Given the description of an element on the screen output the (x, y) to click on. 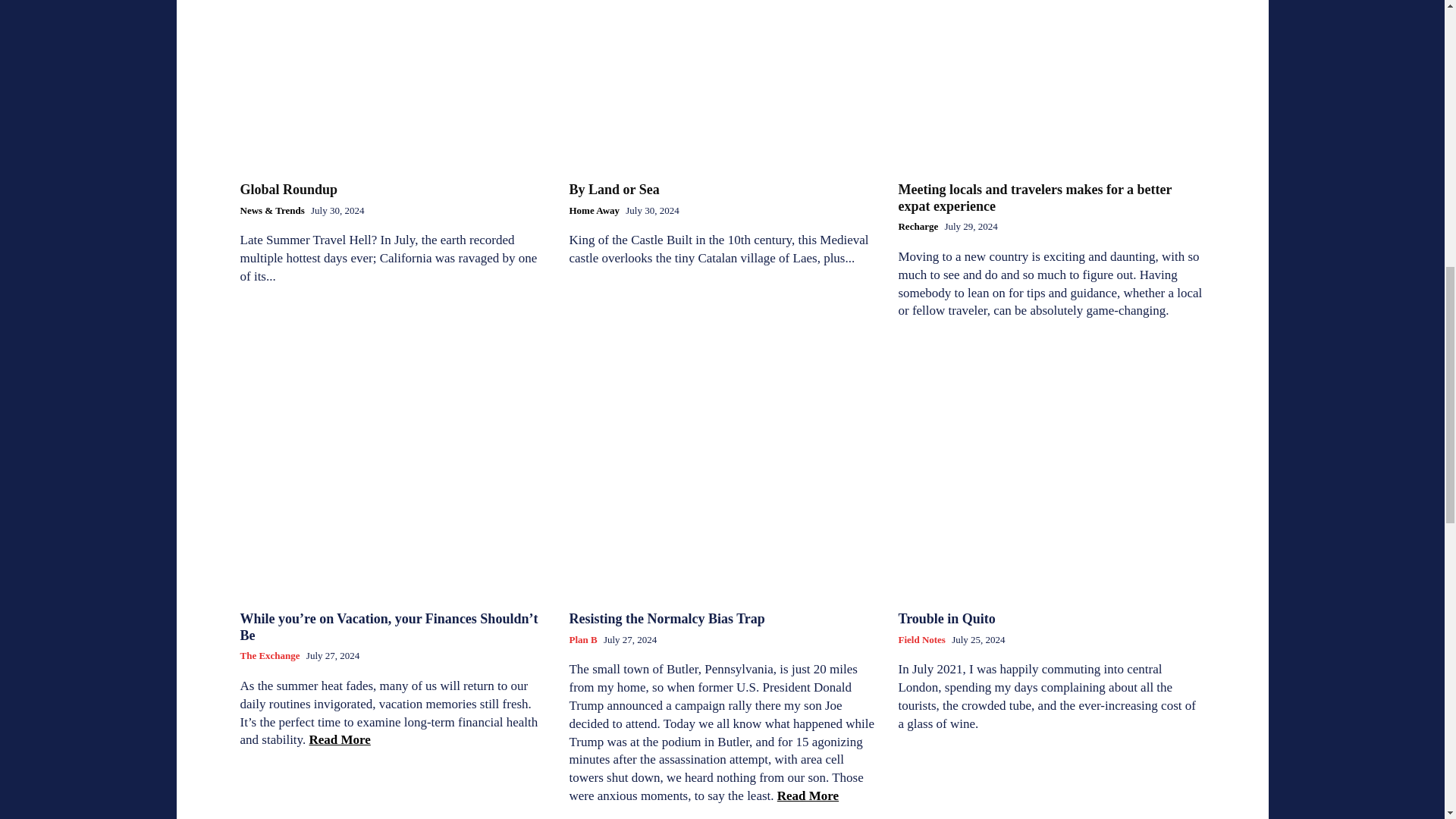
Global Roundup (288, 189)
Global Roundup (393, 76)
By Land or Sea (614, 189)
By Land or Sea (722, 76)
